Given the description of an element on the screen output the (x, y) to click on. 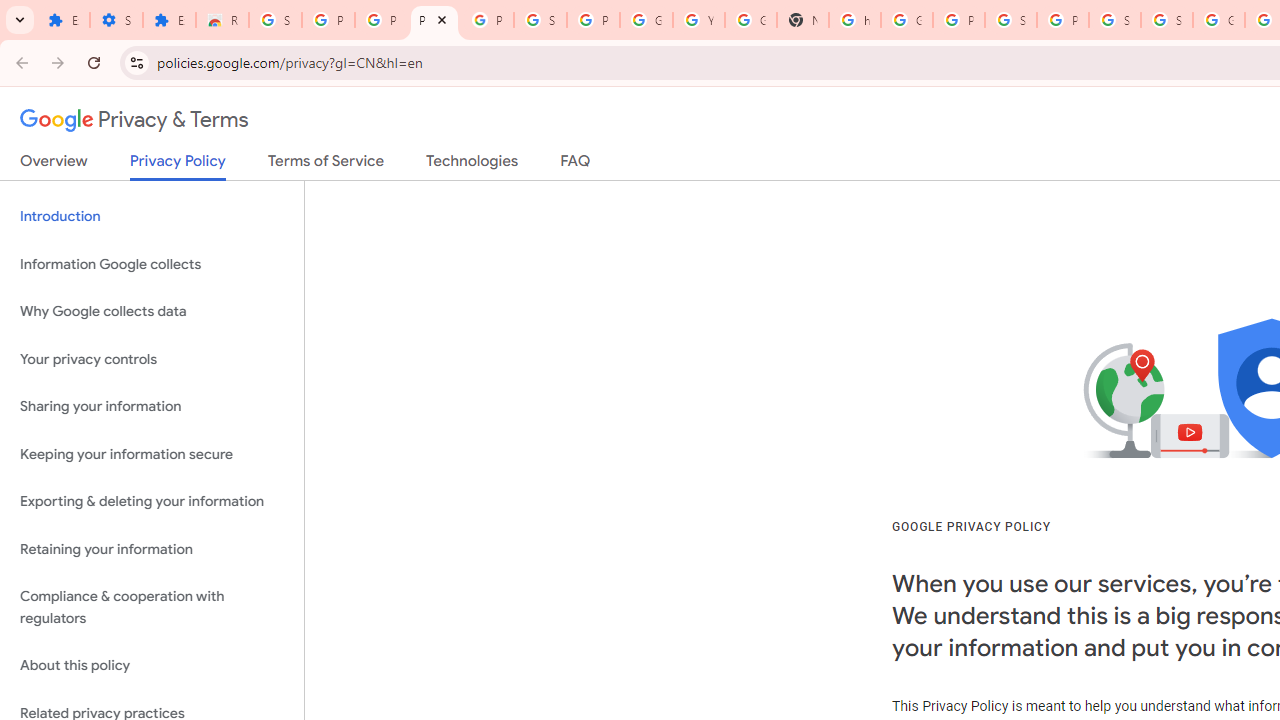
Why Google collects data (152, 312)
Your privacy controls (152, 358)
Sign in - Google Accounts (1114, 20)
Information Google collects (152, 263)
About this policy (152, 666)
Google Account (646, 20)
Sharing your information (152, 407)
Compliance & cooperation with regulators (152, 607)
